Given the description of an element on the screen output the (x, y) to click on. 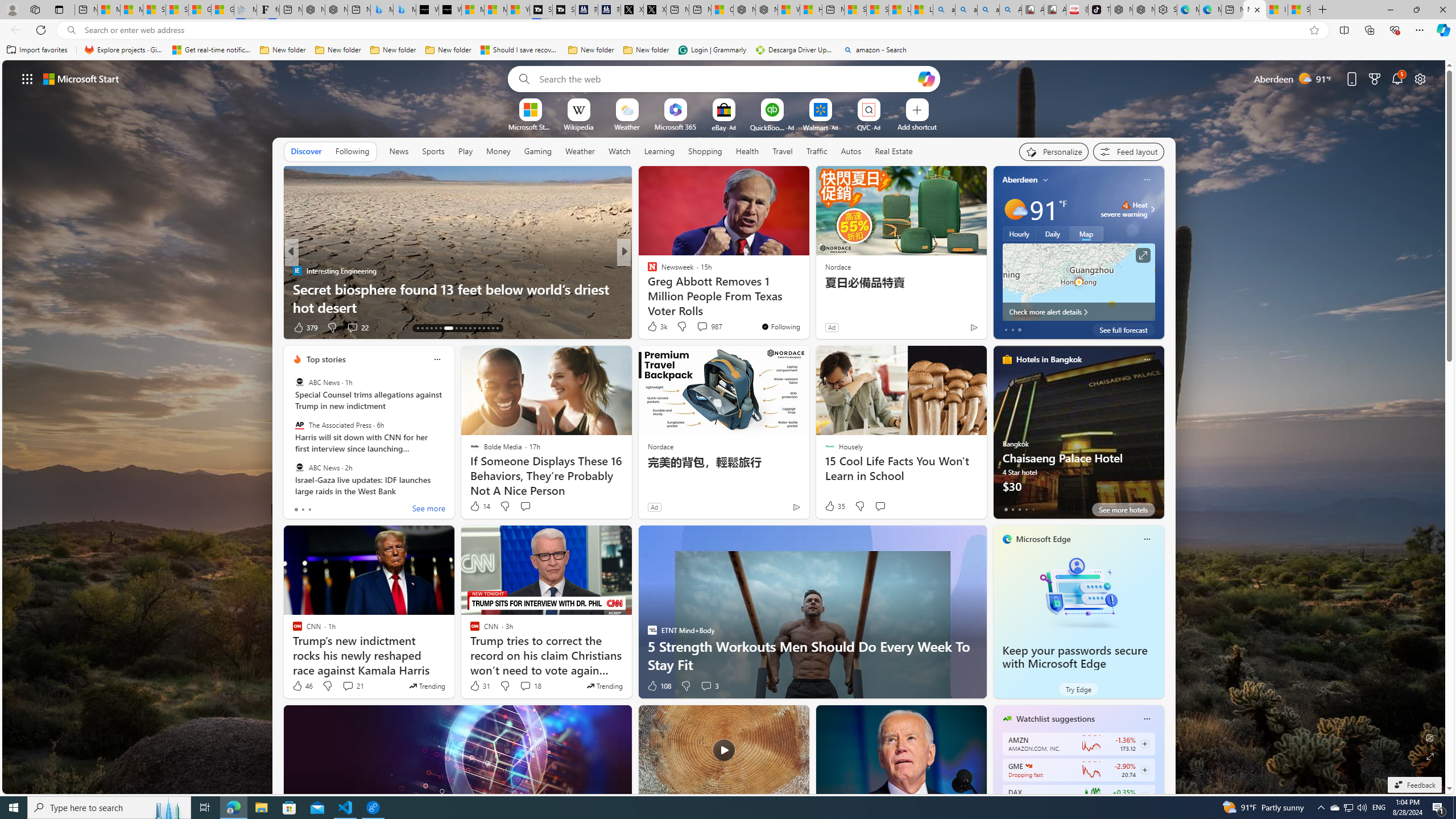
tab-3 (1025, 509)
Interesting Engineering (296, 270)
Amazon Echo Robot - Search Images (1010, 9)
View comments 174 Comment (709, 327)
108 Like (658, 685)
See full forecast (1123, 329)
View comments 22 Comment (357, 327)
View comments 17 Comment (703, 327)
